Given the description of an element on the screen output the (x, y) to click on. 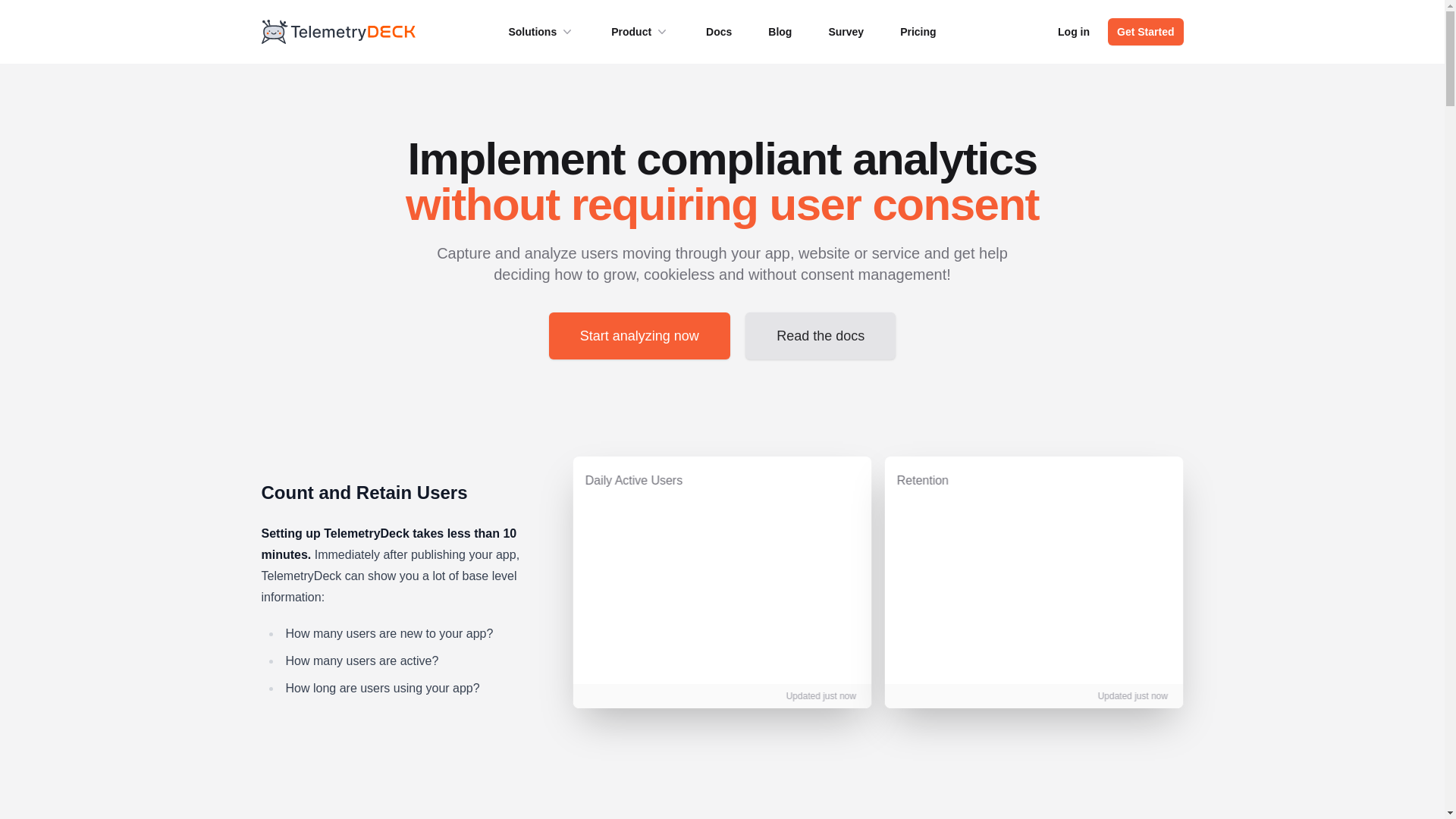
Log in (1073, 31)
Get Started (1145, 31)
Pricing (917, 31)
Docs (719, 31)
Blog (780, 31)
TelemetryDeck (338, 31)
Solutions (541, 31)
Product (640, 31)
Survey (845, 31)
